Given the description of an element on the screen output the (x, y) to click on. 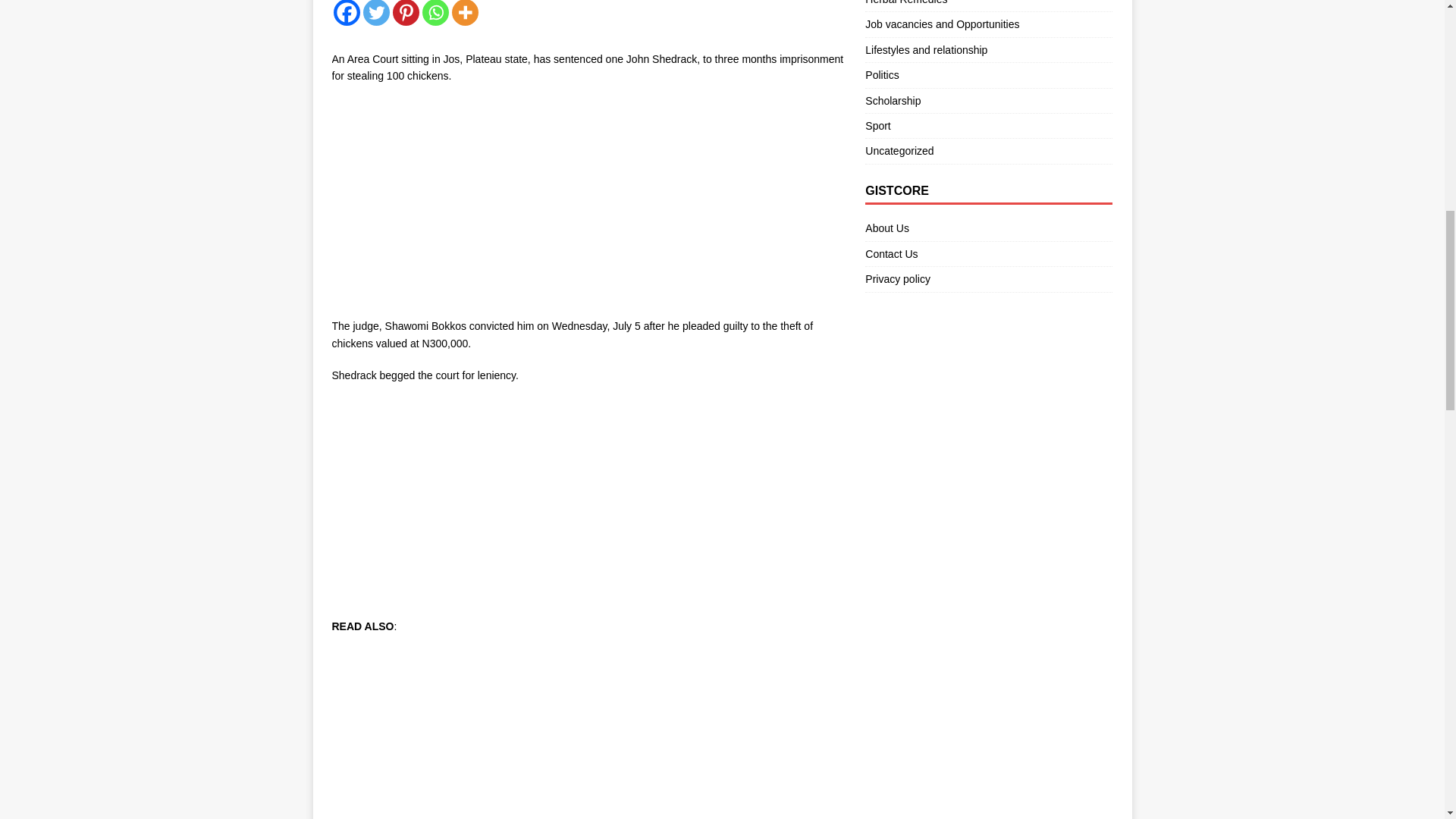
Facebook (346, 12)
Pinterest (406, 12)
Whatsapp (435, 12)
Twitter (375, 12)
More (465, 12)
